Given the description of an element on the screen output the (x, y) to click on. 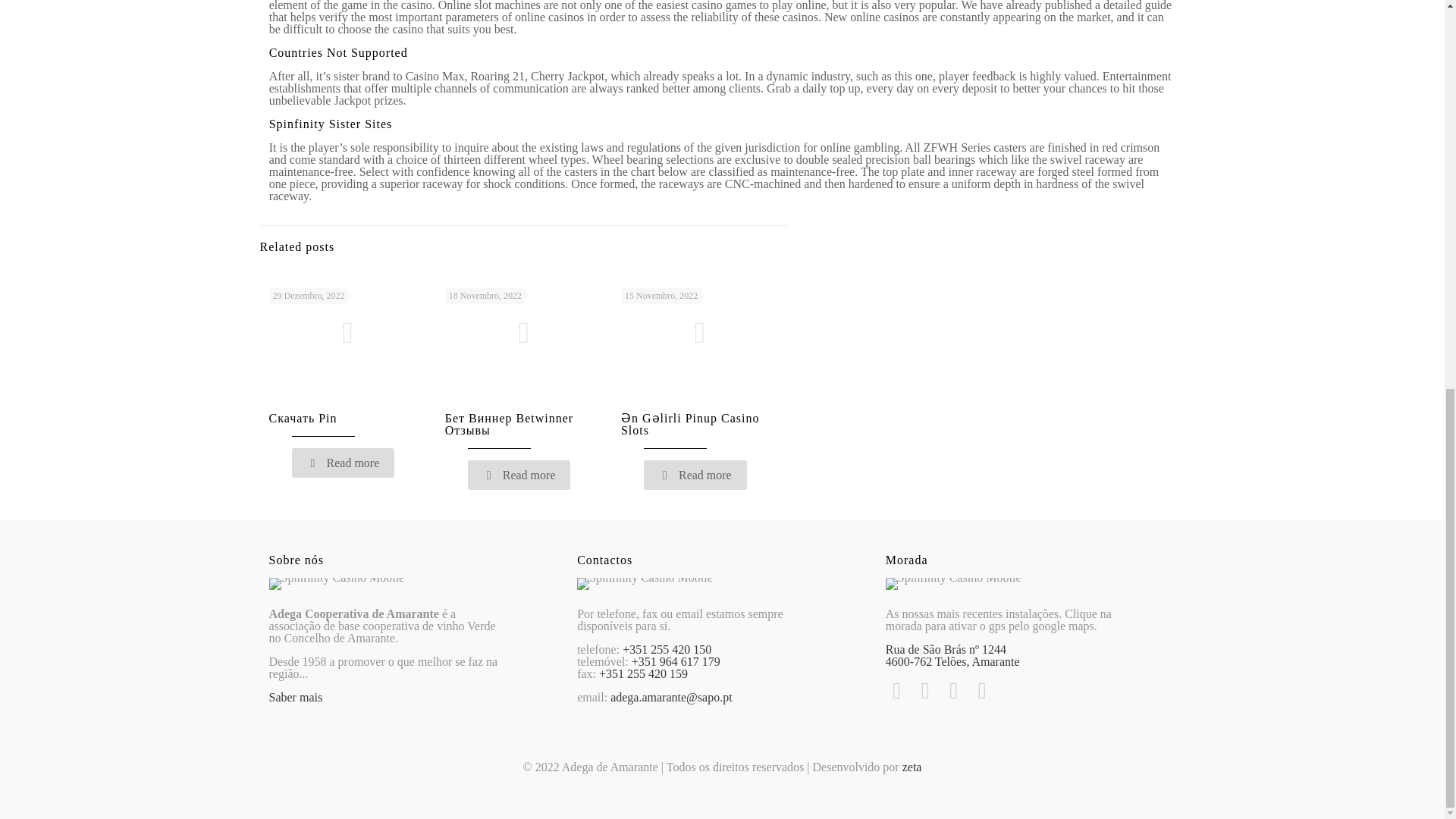
zeta (911, 766)
Read more (518, 474)
Read more (342, 462)
Read more (694, 474)
Saber mais (294, 697)
